Given the description of an element on the screen output the (x, y) to click on. 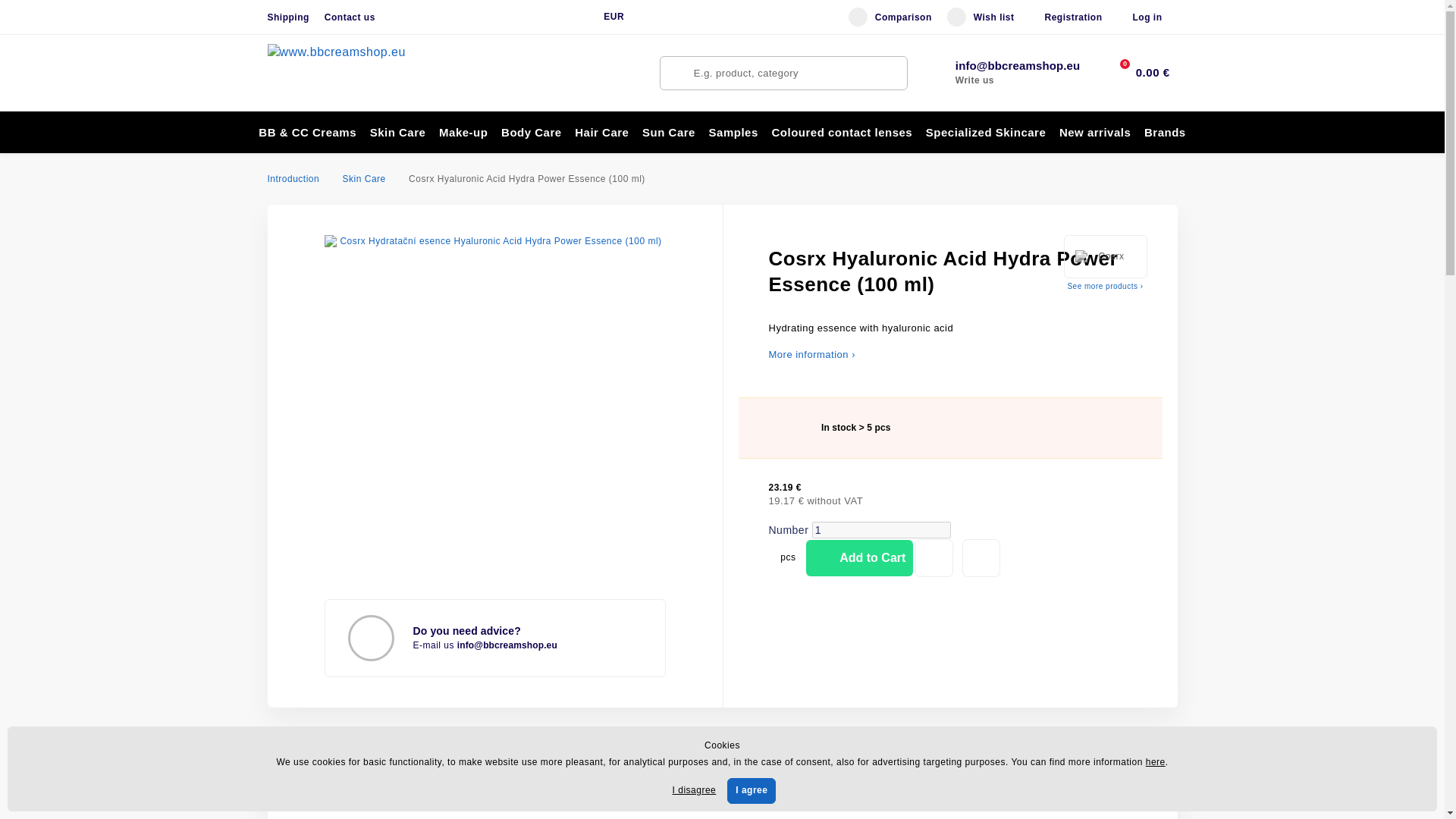
EUR (611, 16)
Wish list (980, 16)
Registration (1072, 16)
Add to Compare (980, 557)
1 (881, 529)
Contact us (349, 17)
Add to Favourites (933, 557)
Shipping (287, 17)
Comparison (889, 16)
Skin Care (397, 132)
Skin Care (363, 178)
Log in (1146, 16)
Go to the home page (353, 73)
